Given the description of an element on the screen output the (x, y) to click on. 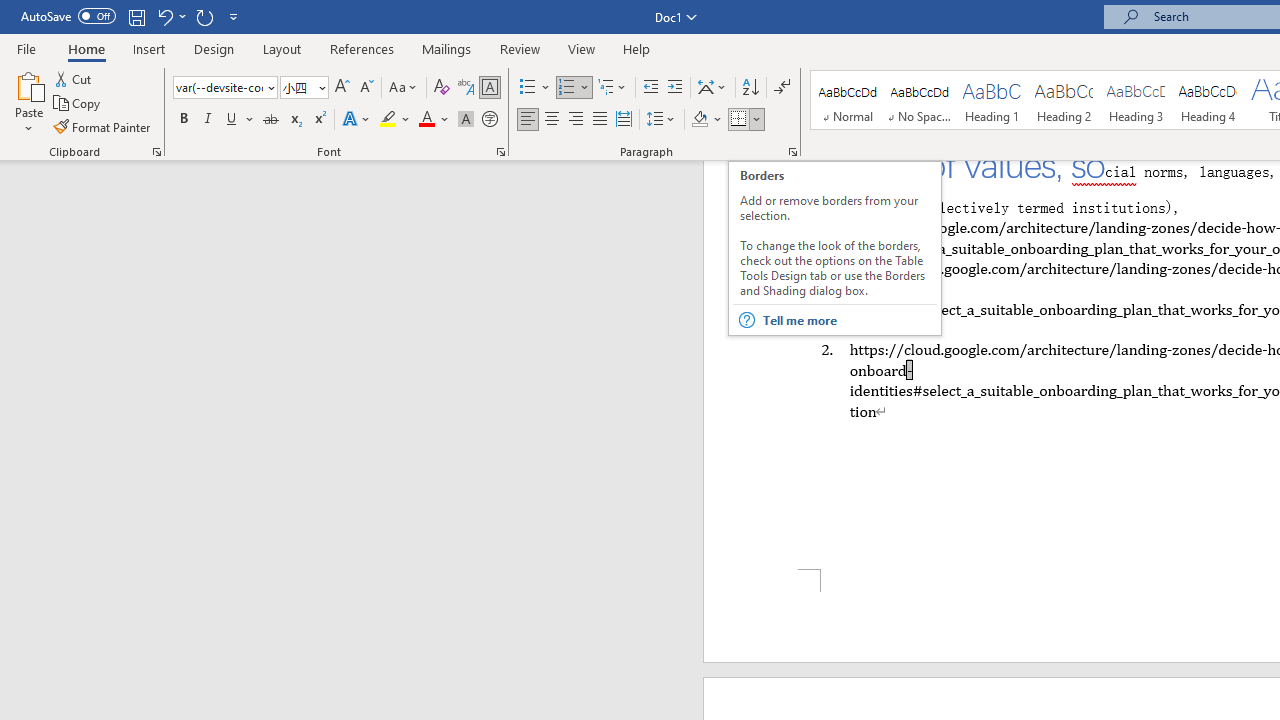
Heading 4 (1208, 100)
Heading 2 (1063, 100)
